Given the description of an element on the screen output the (x, y) to click on. 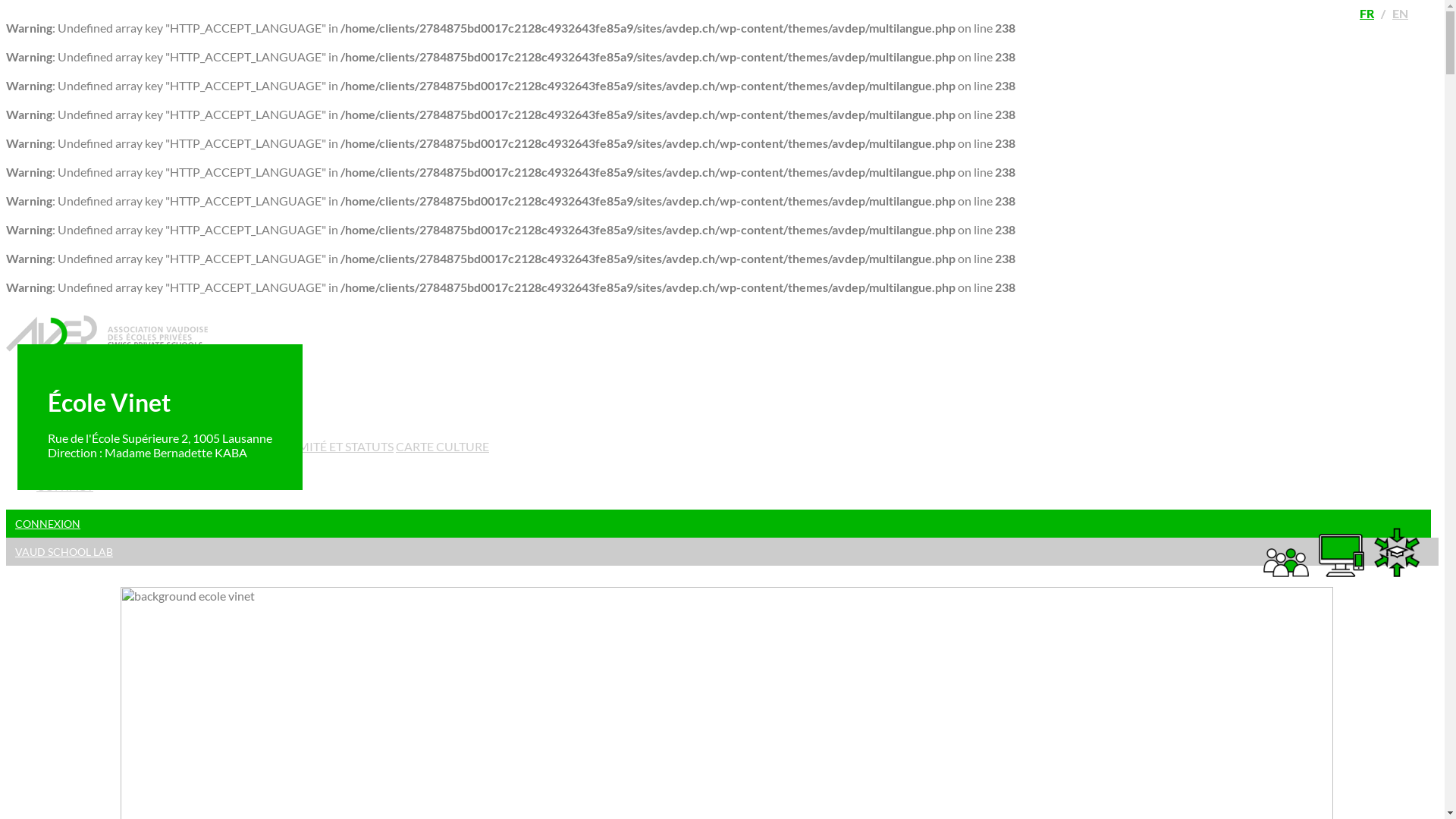
CONTACT Element type: text (72, 487)
EN Element type: text (1400, 13)
EMPLOIS Element type: text (69, 468)
CONNEXION Element type: text (718, 523)
FR Element type: text (1366, 13)
VAUD SCHOOL LAB Element type: text (722, 551)
AVDEP Element type: text (63, 423)
ACCUEIL (CURRENT) Element type: text (101, 385)
CARTE CULTURE Element type: text (442, 446)
